Given the description of an element on the screen output the (x, y) to click on. 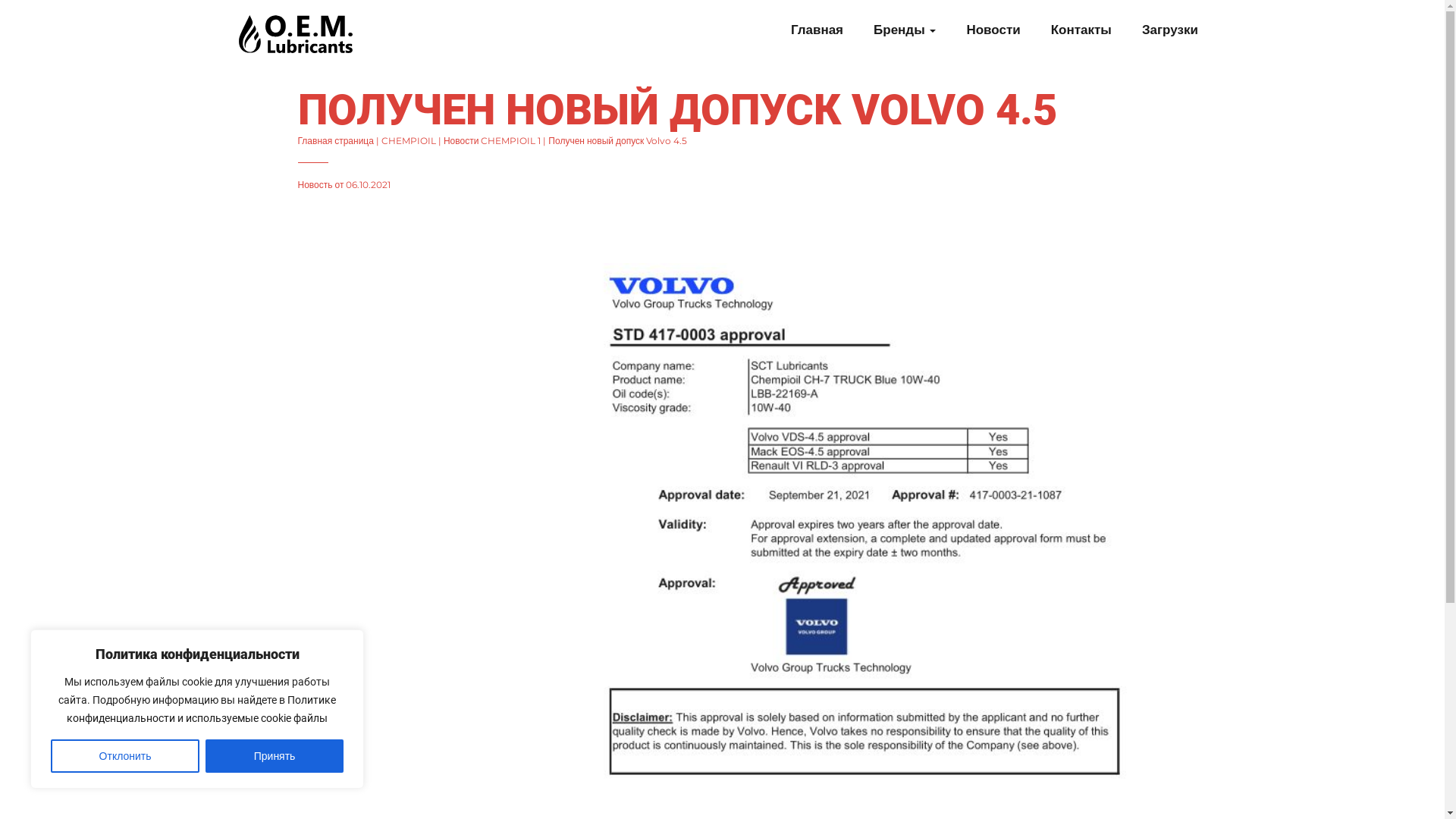
CHEMPIOIL Element type: text (408, 140)
